Given the description of an element on the screen output the (x, y) to click on. 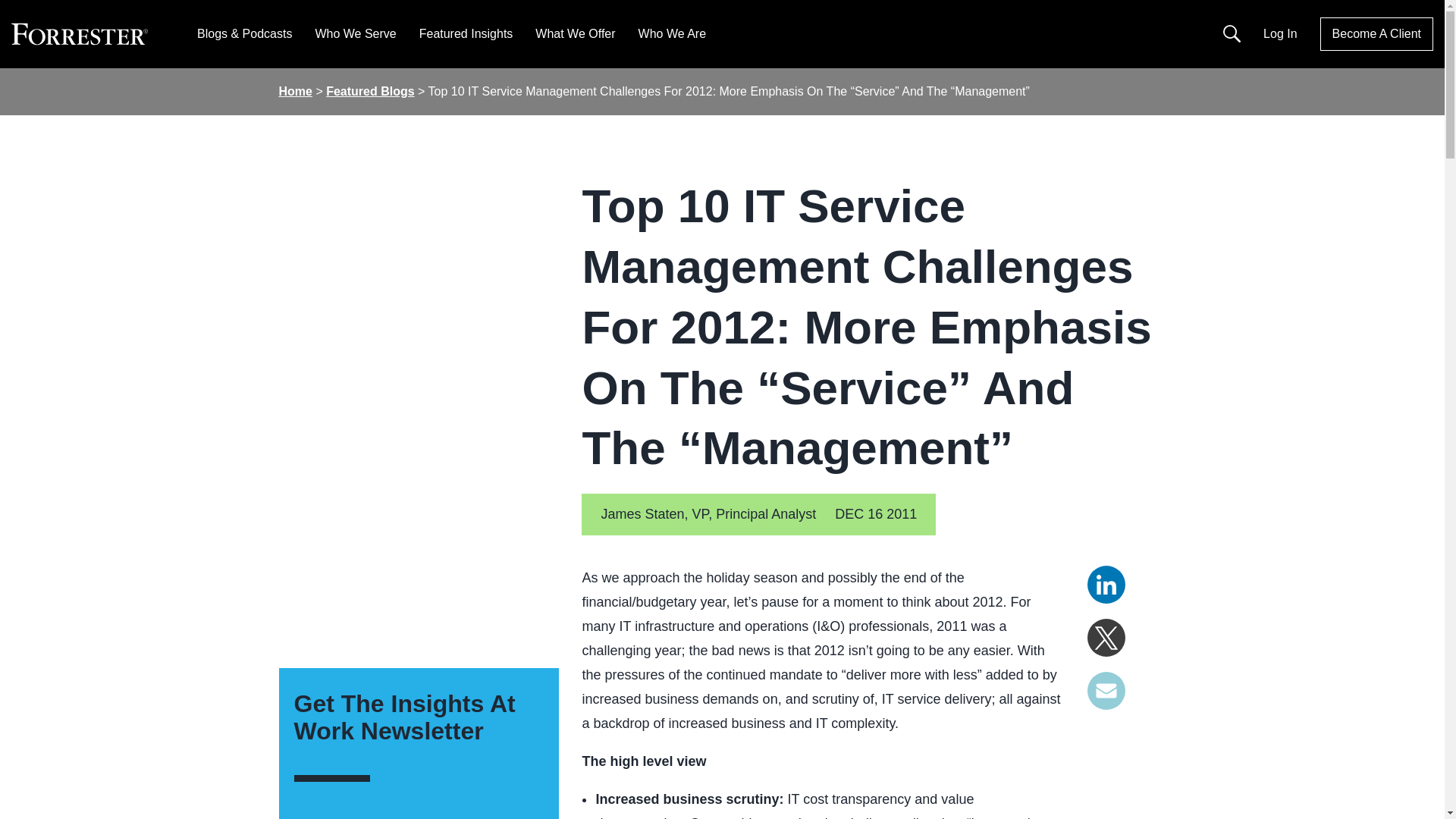
What We Offer (574, 33)
Who We Serve (355, 33)
Featured Insights (466, 33)
